Given the description of an element on the screen output the (x, y) to click on. 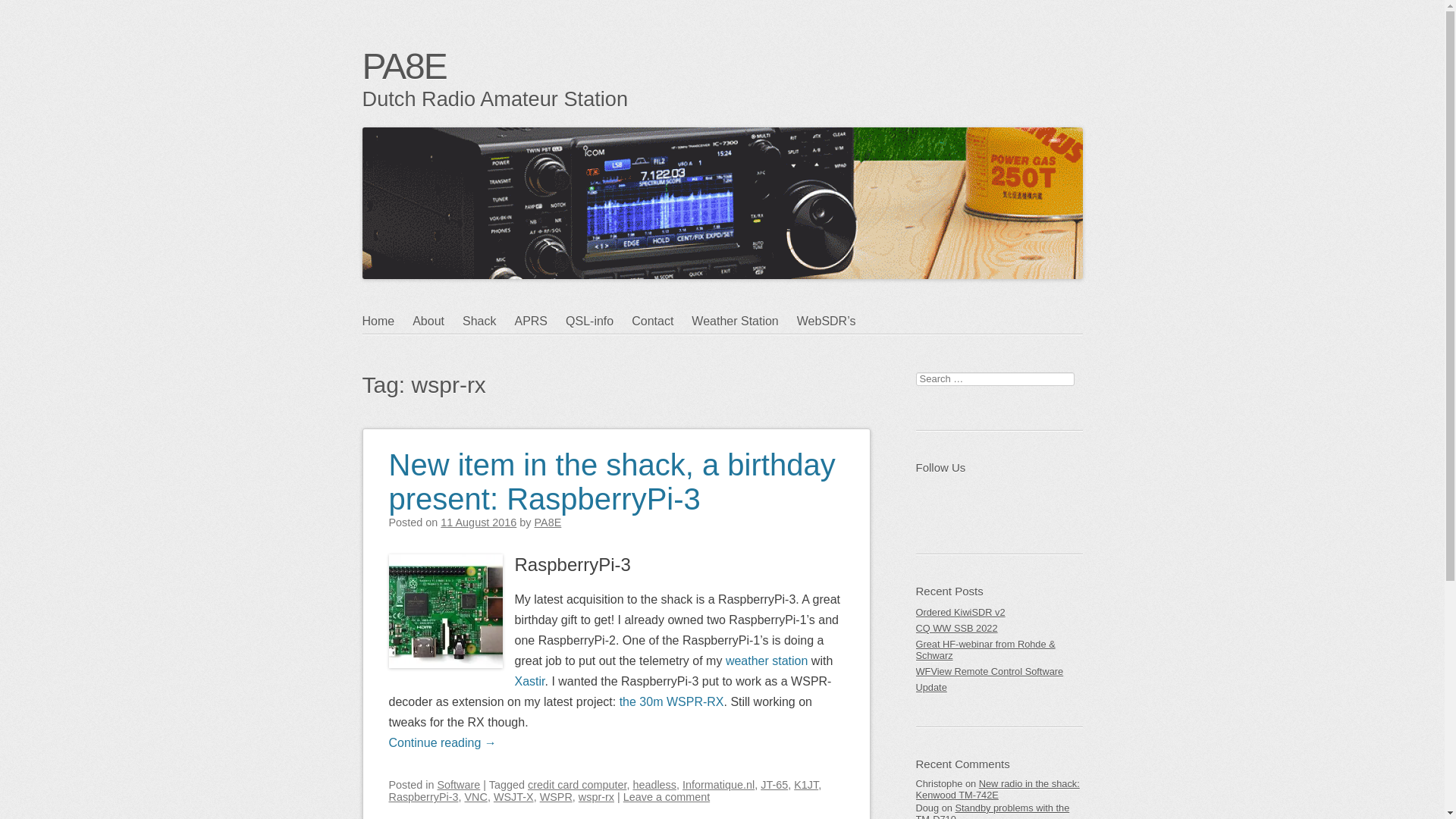
Xastir (528, 680)
Send me a message! (661, 321)
Software (459, 784)
About (437, 321)
Frontpage of blog (387, 321)
headless (654, 784)
CQ WW SSB 2022 (999, 627)
A glimp of the radioroom. (488, 321)
JT-65 (773, 784)
